Given the description of an element on the screen output the (x, y) to click on. 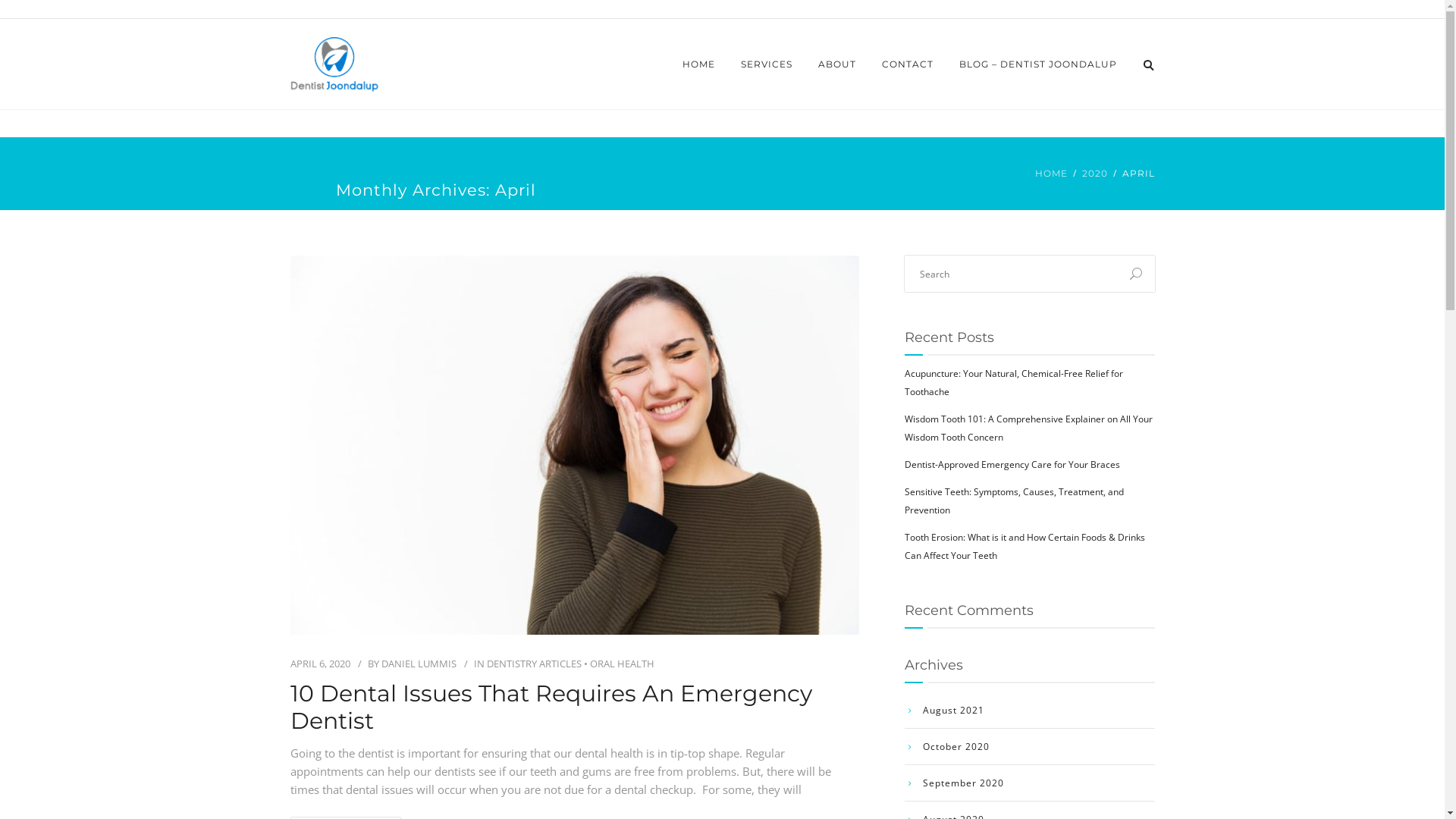
10 Dental Issues That Requires An Emergency Dentist Element type: text (573, 707)
ORAL HEALTH Element type: text (621, 663)
DENTISTRY ARTICLES Element type: text (533, 663)
SERVICES Element type: text (766, 64)
September 2020 Element type: text (953, 783)
CONTACT Element type: text (907, 64)
HOME Element type: text (697, 64)
HOME Element type: text (1050, 173)
August 2021 Element type: text (943, 710)
DANIEL LUMMIS Element type: text (417, 663)
Sensitive Teeth: Symptoms, Causes, Treatment, and Prevention Element type: text (1013, 500)
2020 Element type: text (1094, 173)
October 2020 Element type: text (945, 746)
ABOUT Element type: text (836, 64)
Dentist-Approved Emergency Care for Your Braces Element type: text (1011, 464)
